Given the description of an element on the screen output the (x, y) to click on. 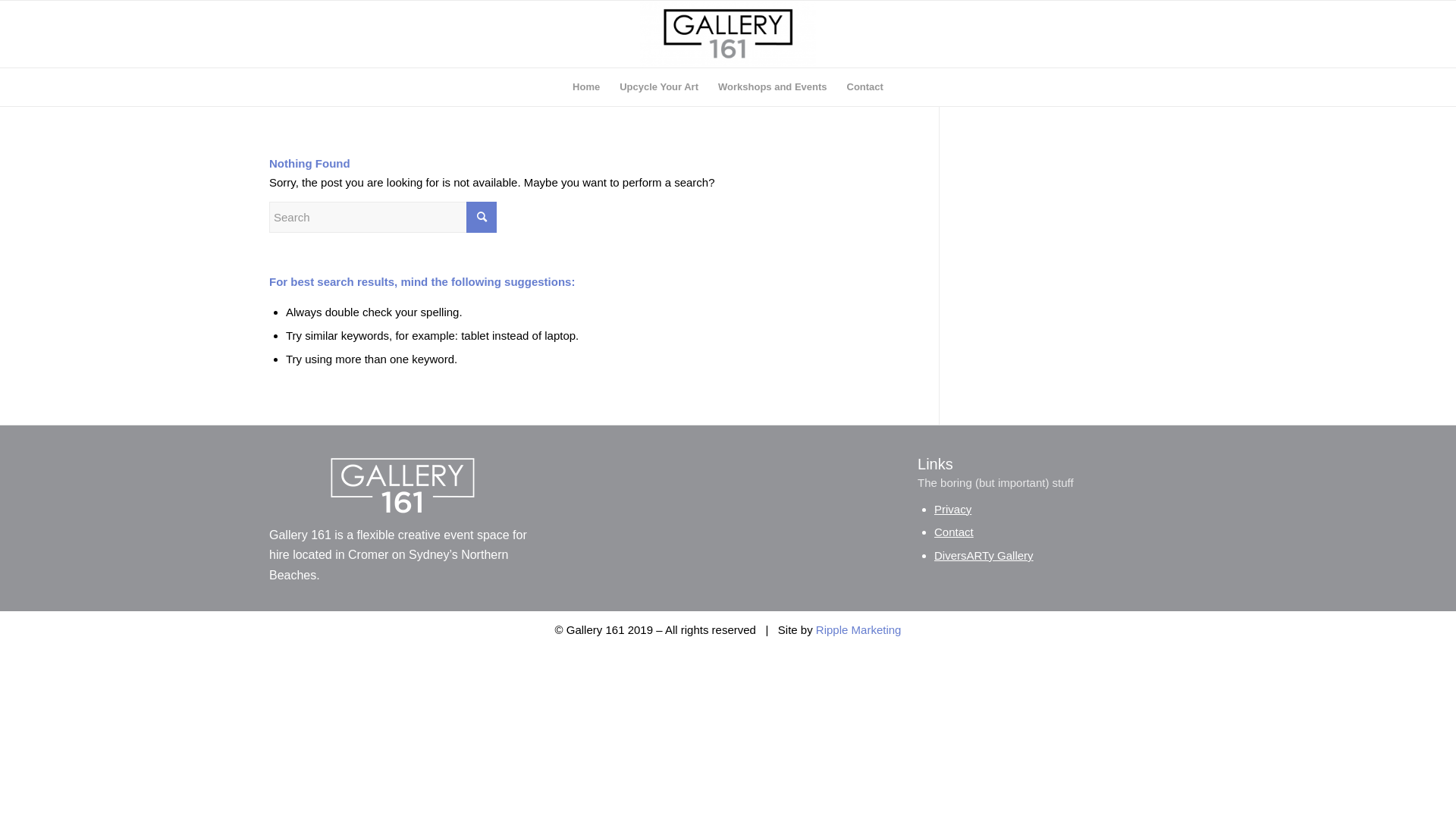
Contact Element type: text (953, 531)
Ripple Marketing Element type: text (858, 629)
Workshops and Events Element type: text (772, 87)
Contact Element type: text (865, 87)
Home Element type: text (585, 87)
DiversARTy Gallery Element type: text (983, 555)
Logo white-01 Element type: hover (403, 484)
Upcycle Your Art Element type: text (658, 87)
Privacy Element type: text (952, 508)
